Given the description of an element on the screen output the (x, y) to click on. 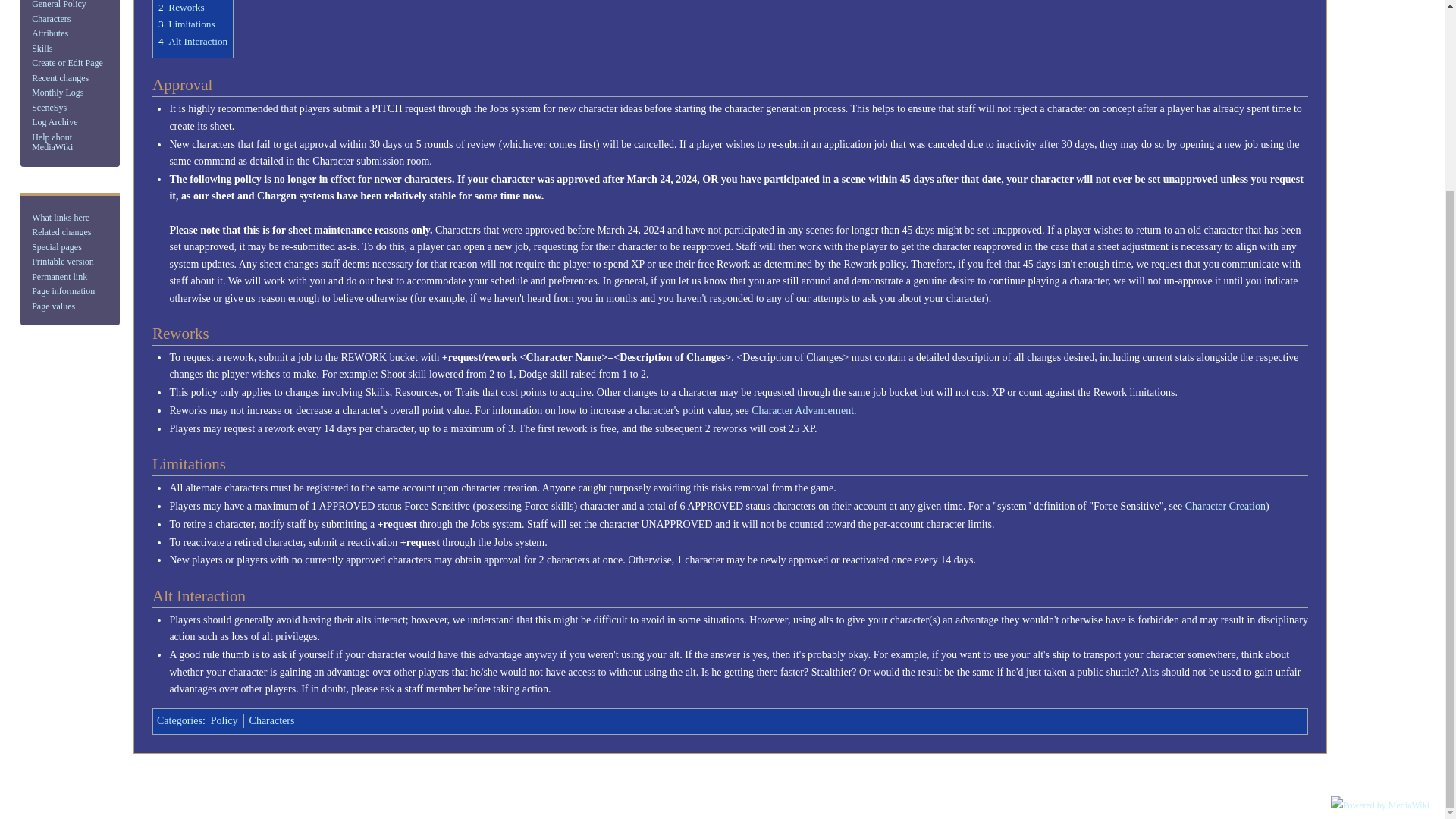
Special pages (56, 246)
General Policy (58, 4)
Special:Categories (179, 720)
Related changes (61, 231)
Characters (50, 18)
2 Reworks (181, 7)
Skills (42, 48)
3 Limitations (186, 23)
Help about MediaWiki (52, 142)
Monthly Logs (57, 91)
